Given the description of an element on the screen output the (x, y) to click on. 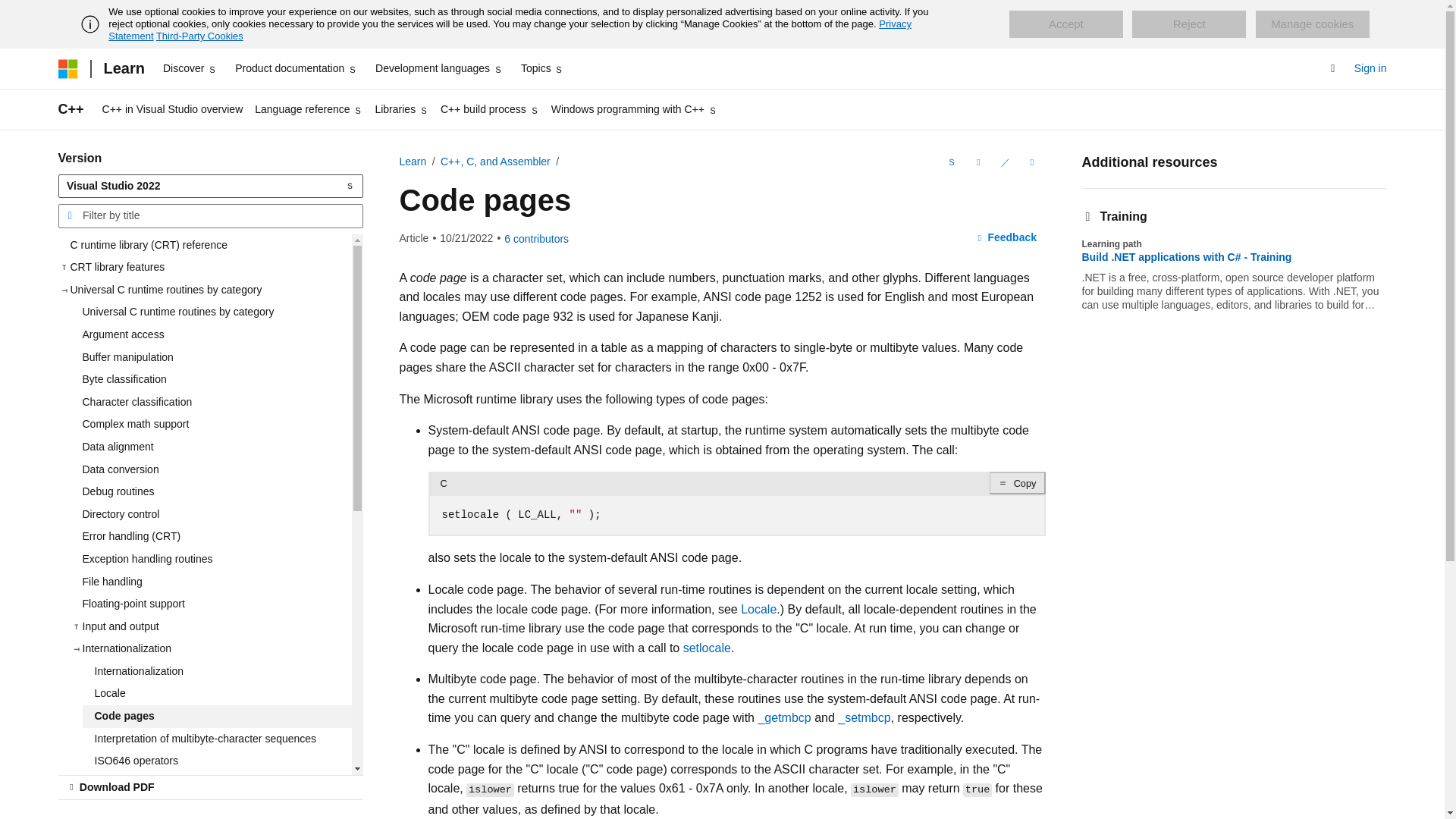
Sign in (1370, 68)
Manage cookies (1312, 23)
Libraries (400, 109)
More actions (1031, 161)
Accept (1065, 23)
Third-Party Cookies (199, 35)
Development languages (438, 68)
Language (949, 161)
Topics (542, 68)
Product documentation (295, 68)
